Given the description of an element on the screen output the (x, y) to click on. 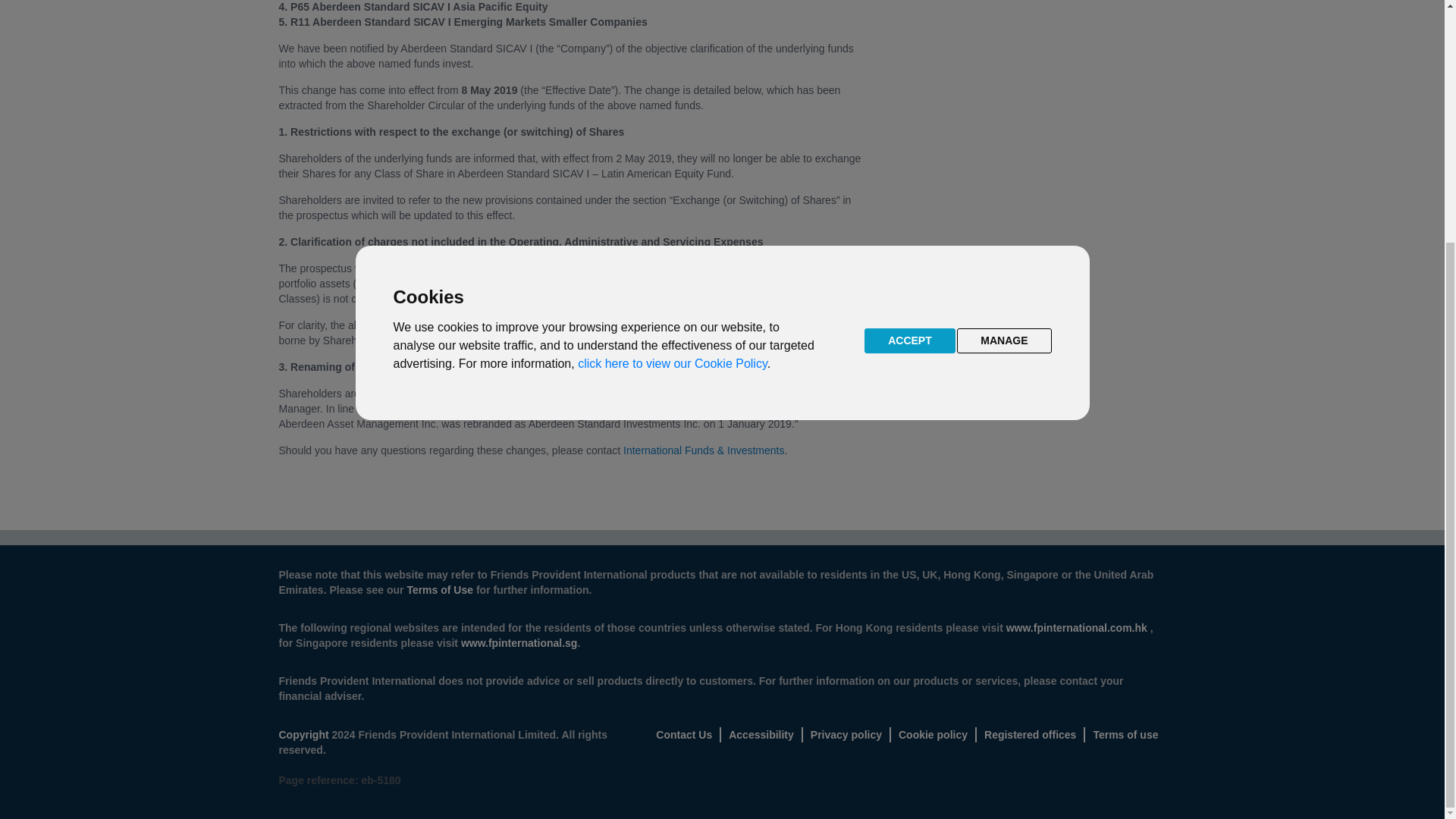
click here to view our Cookie Policy (672, 27)
MANAGE (1003, 8)
ACCEPT (909, 8)
